Given the description of an element on the screen output the (x, y) to click on. 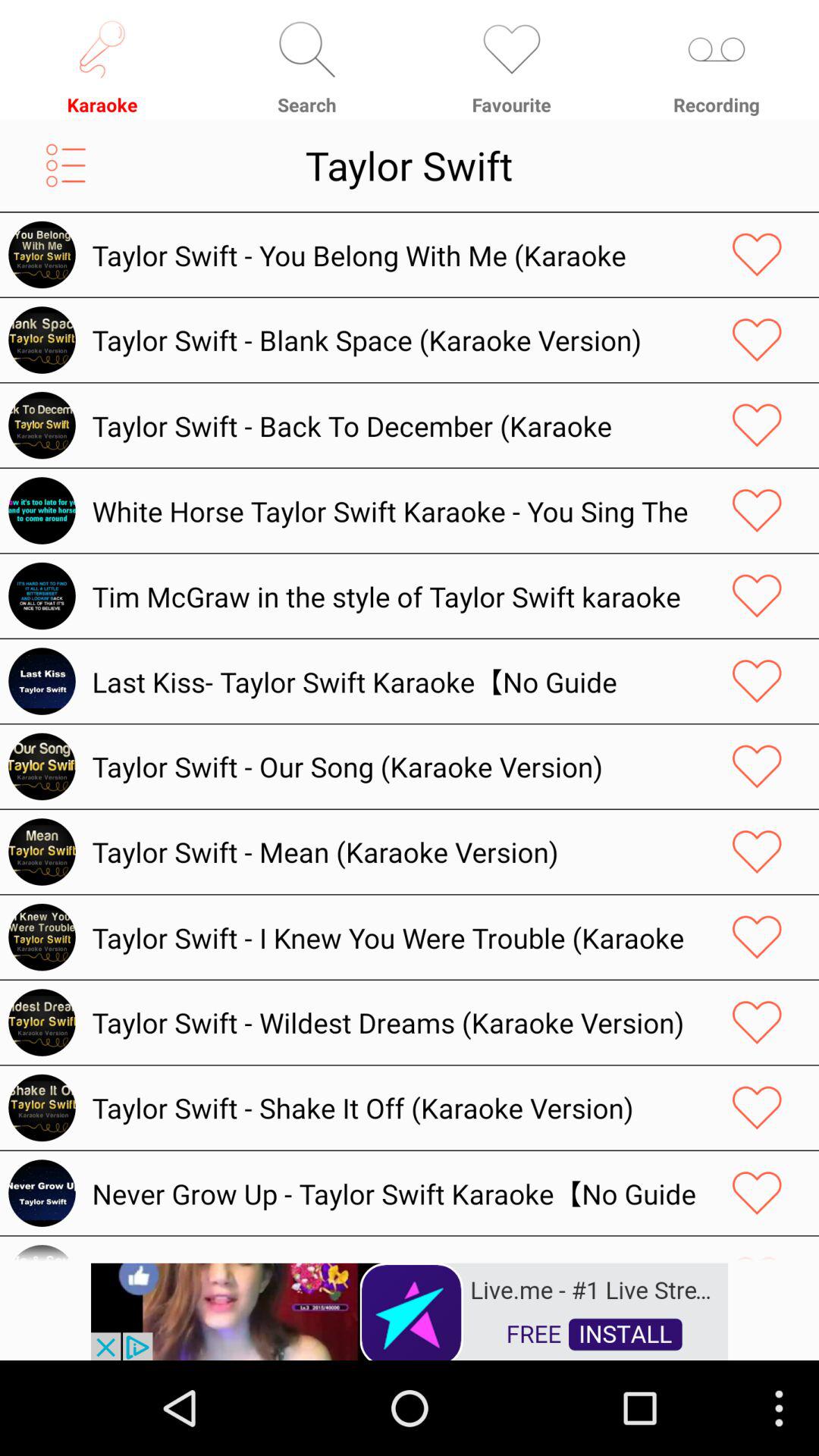
add to favorites (756, 1193)
